Given the description of an element on the screen output the (x, y) to click on. 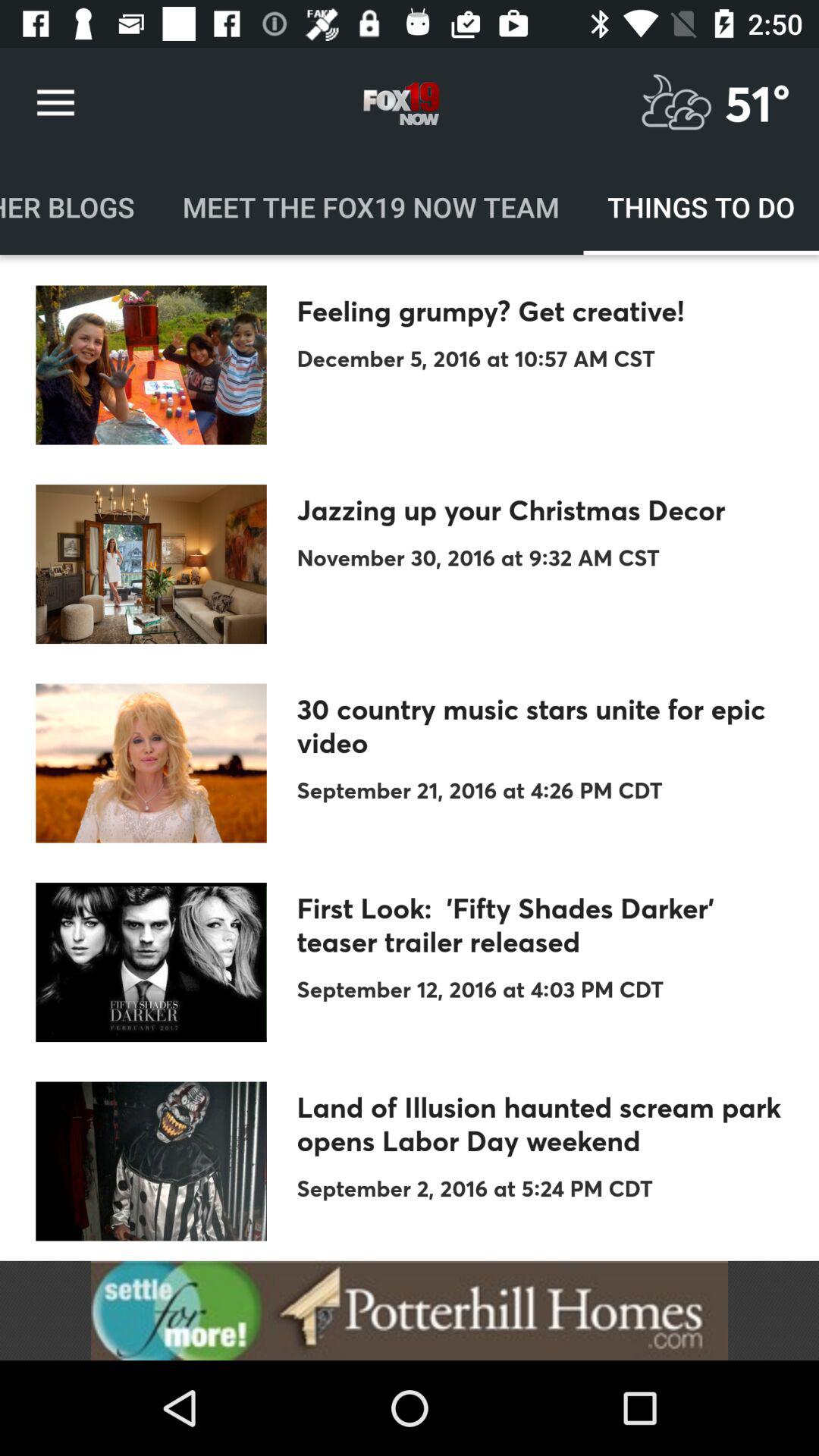
so the advertisement (409, 1310)
